Given the description of an element on the screen output the (x, y) to click on. 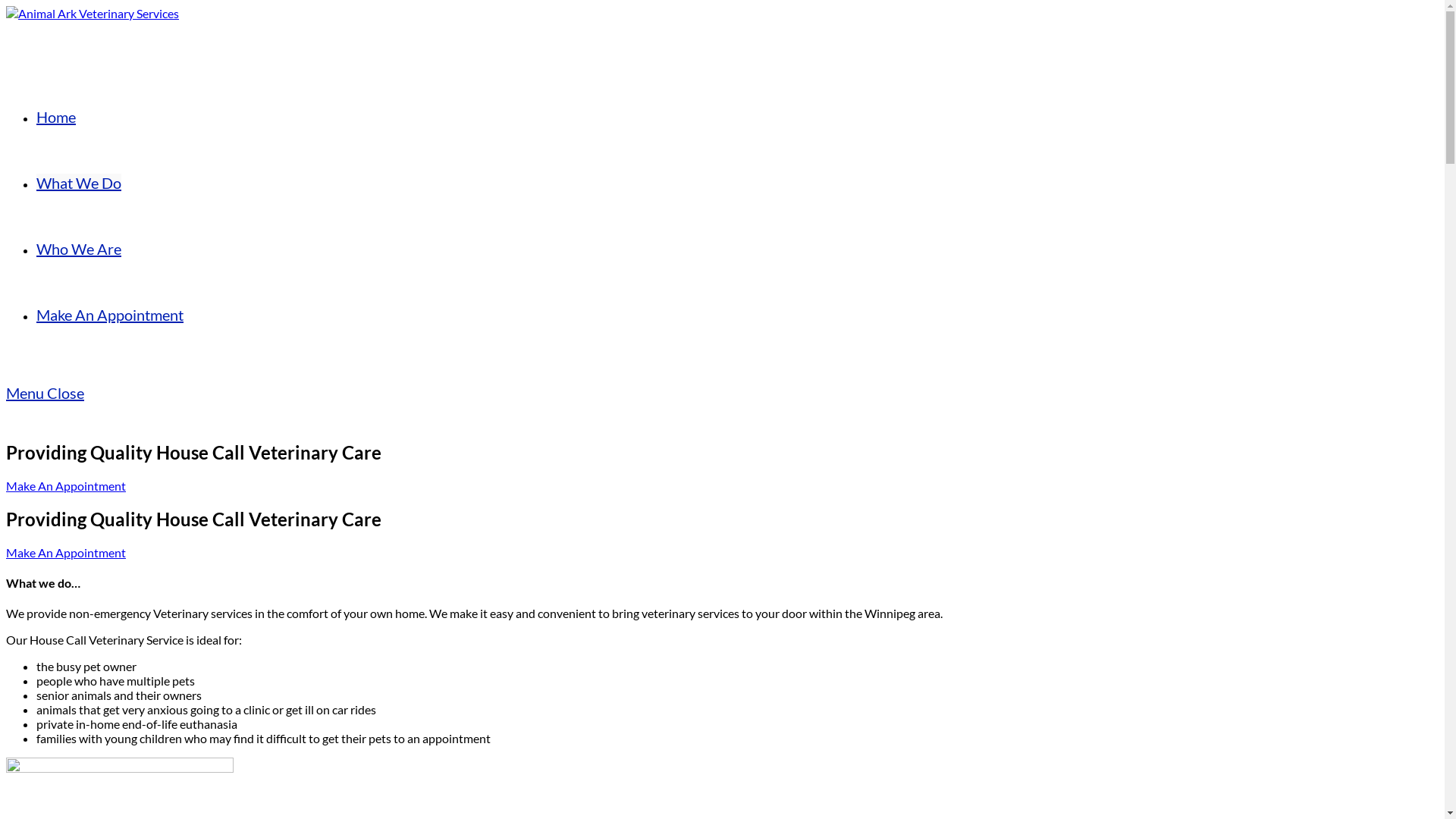
Skip to content Element type: text (5, 5)
Home Element type: text (55, 116)
Who We Are Element type: text (78, 248)
Make An Appointment Element type: text (65, 552)
Make An Appointment Element type: text (109, 314)
Menu Close Element type: text (45, 392)
What We Do Element type: text (78, 182)
Make An Appointment Element type: text (65, 485)
